Given the description of an element on the screen output the (x, y) to click on. 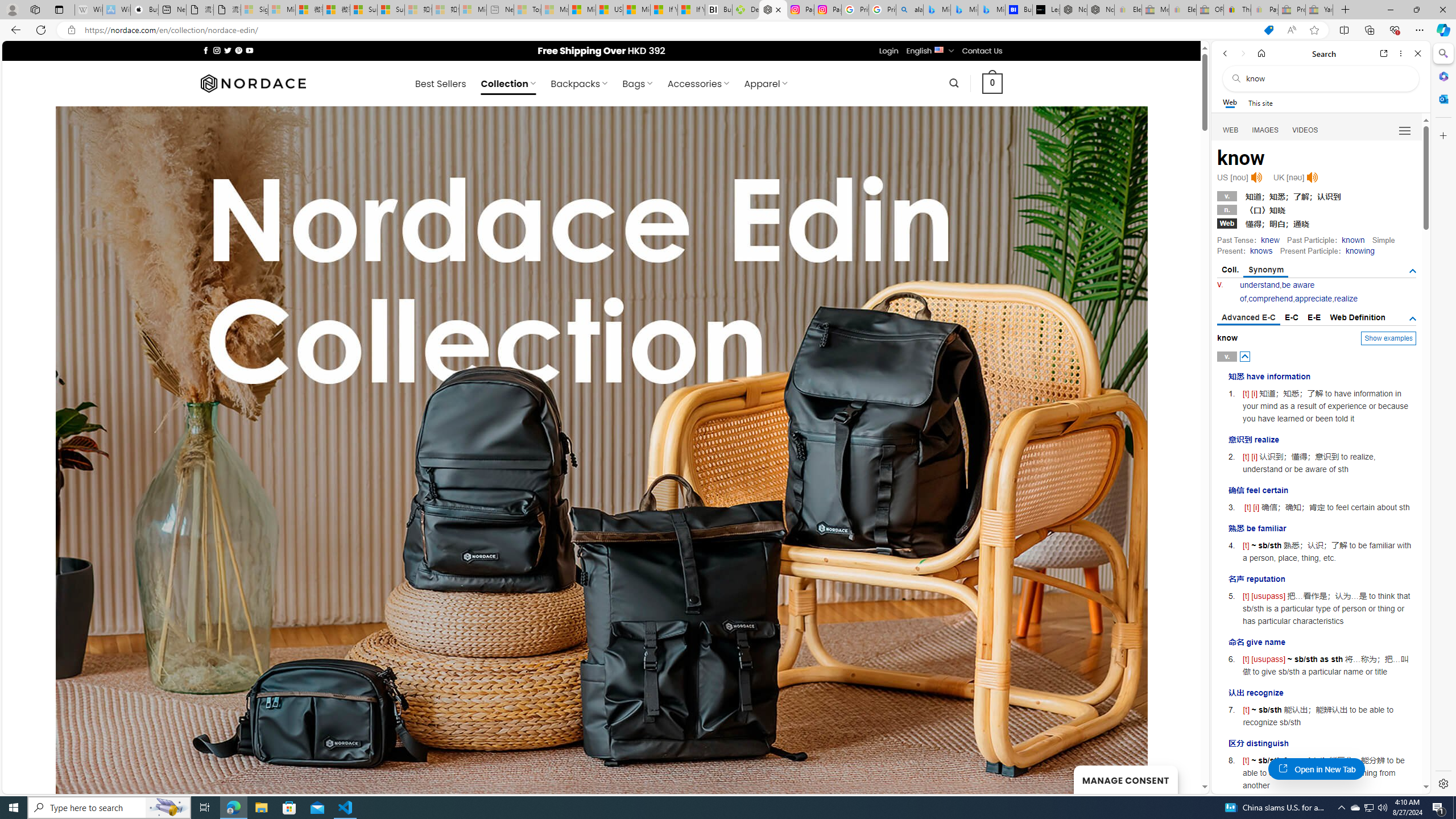
known (1352, 239)
Web Definition (1357, 317)
